Given the description of an element on the screen output the (x, y) to click on. 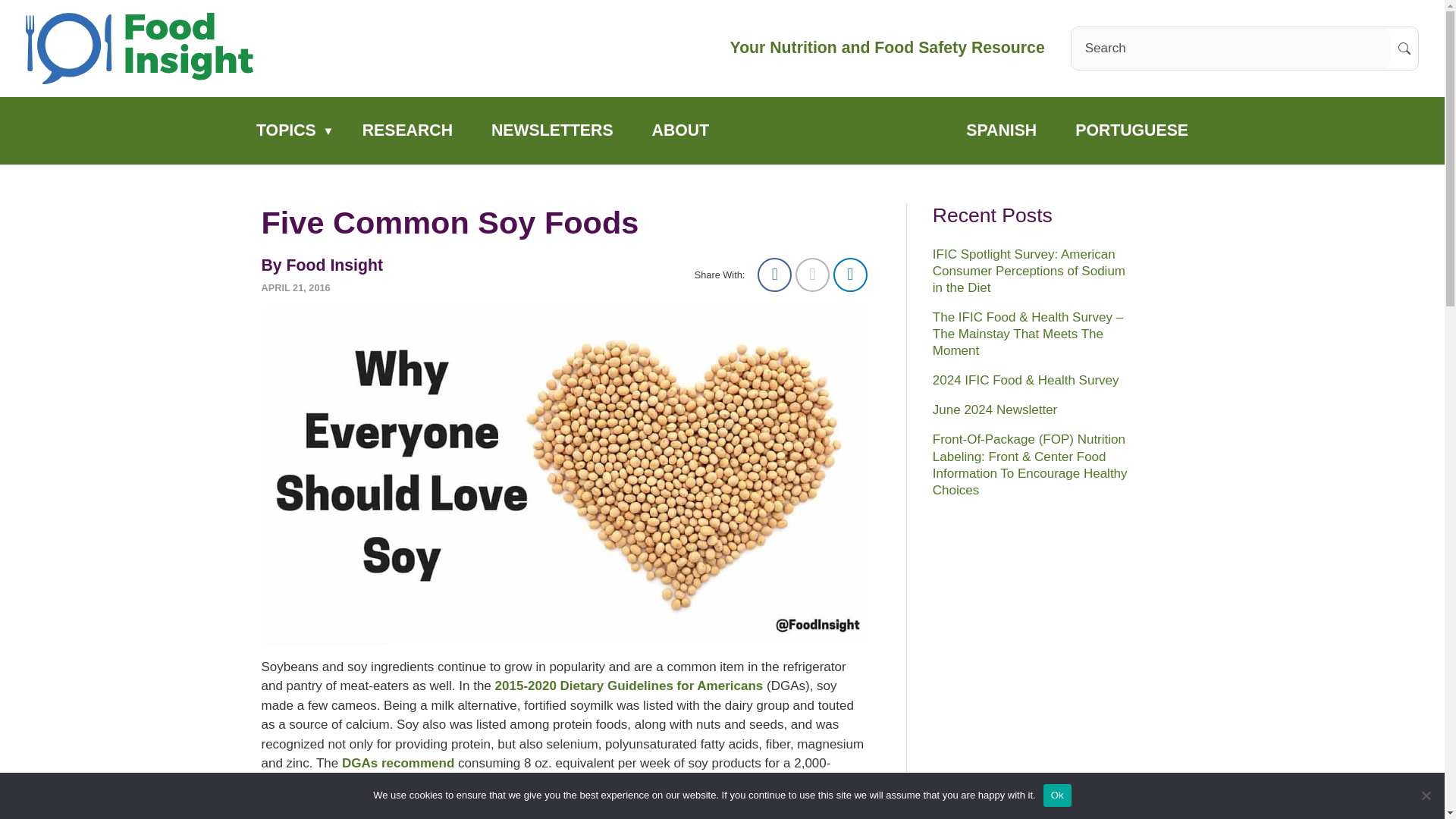
PORTUGUESE (1132, 130)
DGAs recommend (398, 762)
June 2024 Newsletter (995, 409)
ABOUT (680, 130)
TOPICS (284, 130)
NEWSLETTERS (551, 130)
fortified soy beverages (422, 782)
SPANISH (1002, 130)
2015-2020 Dietary Guidelines for Americans (628, 685)
RESEARCH (406, 130)
No (1425, 795)
